Given the description of an element on the screen output the (x, y) to click on. 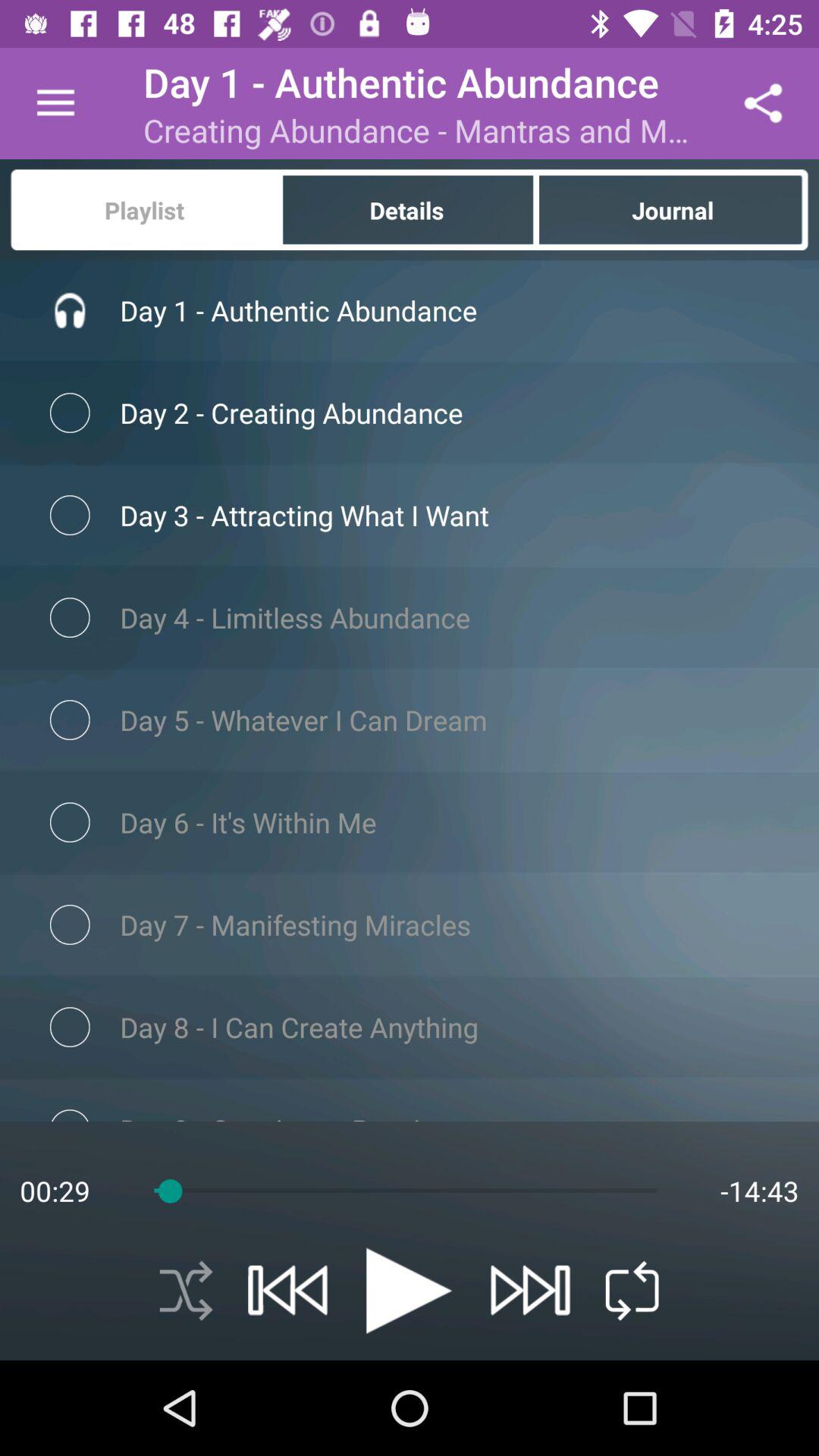
select the checkbox which is left to text its within me (69, 822)
select third radio button which is below playlist (69, 616)
